Given the description of an element on the screen output the (x, y) to click on. 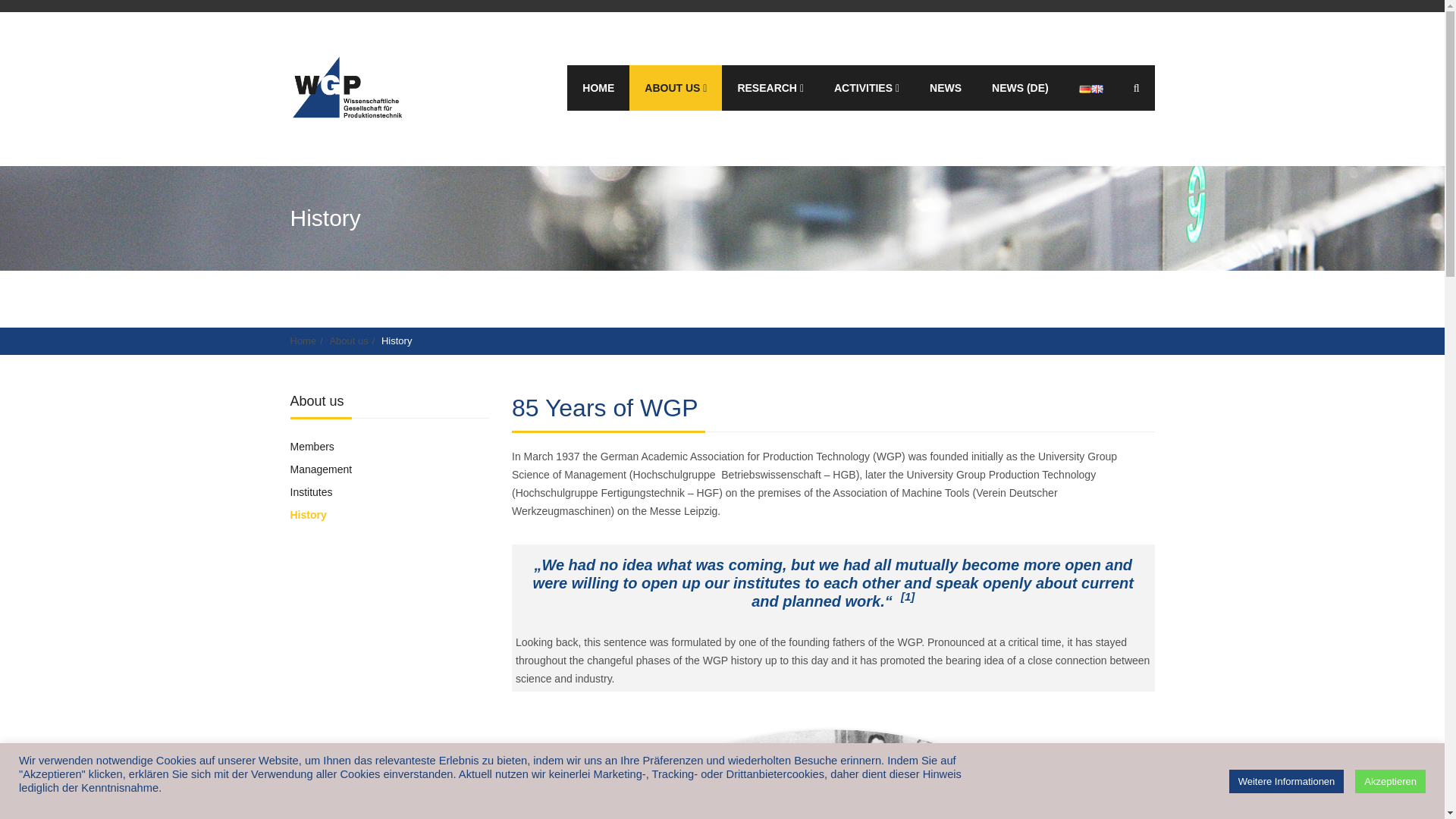
About us (675, 89)
ABOUT US (675, 89)
News (945, 89)
Home (597, 89)
ACTIVITIES (866, 89)
NEWS (945, 89)
RESEARCH (770, 89)
Activities (866, 89)
Research (770, 89)
HOME (597, 89)
